Given the description of an element on the screen output the (x, y) to click on. 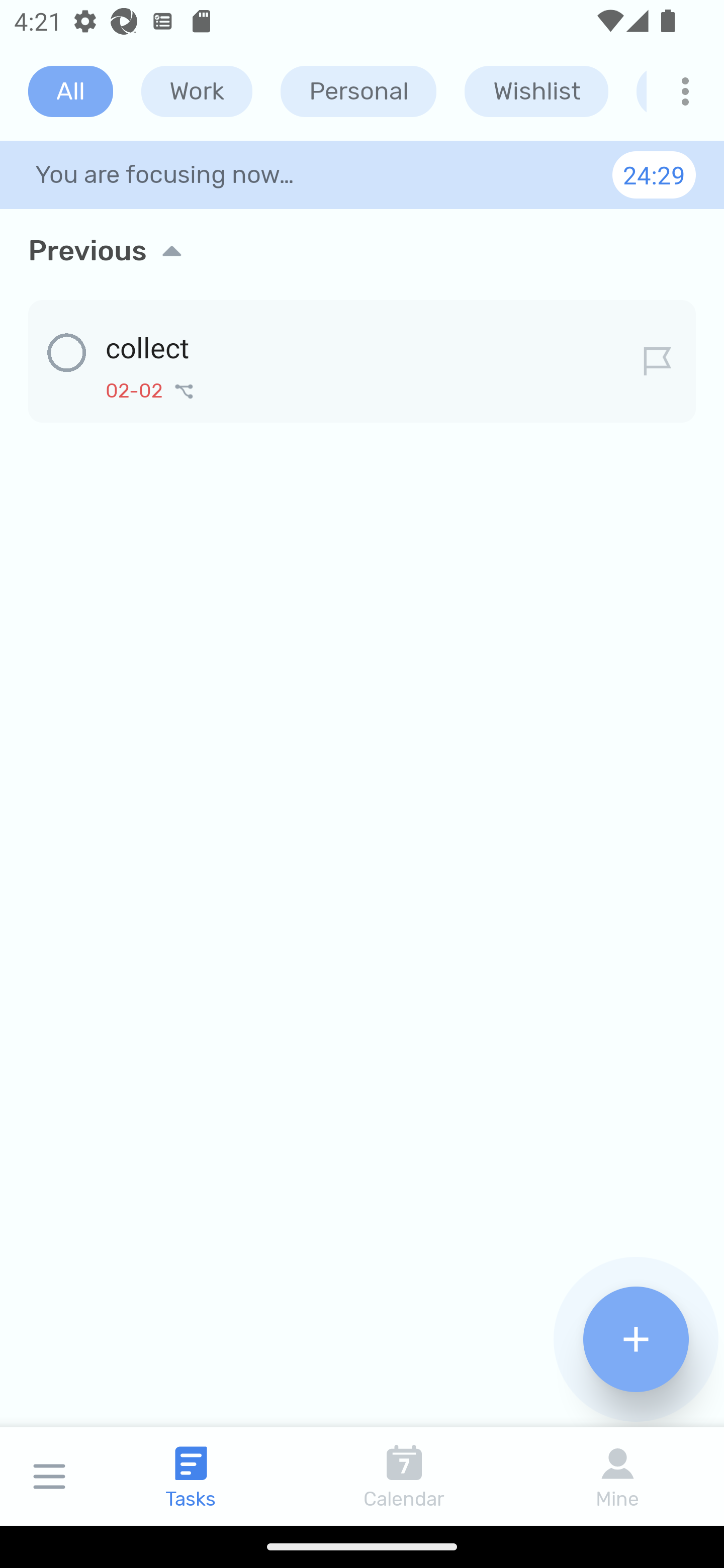
All (70, 91)
Work (196, 91)
Personal (358, 91)
Wishlist (536, 91)
You are focusing now… 24:29 (362, 174)
Previous (362, 250)
collect 02-02 (362, 358)
Tasks (190, 1475)
Calendar (404, 1475)
Mine (617, 1475)
